Given the description of an element on the screen output the (x, y) to click on. 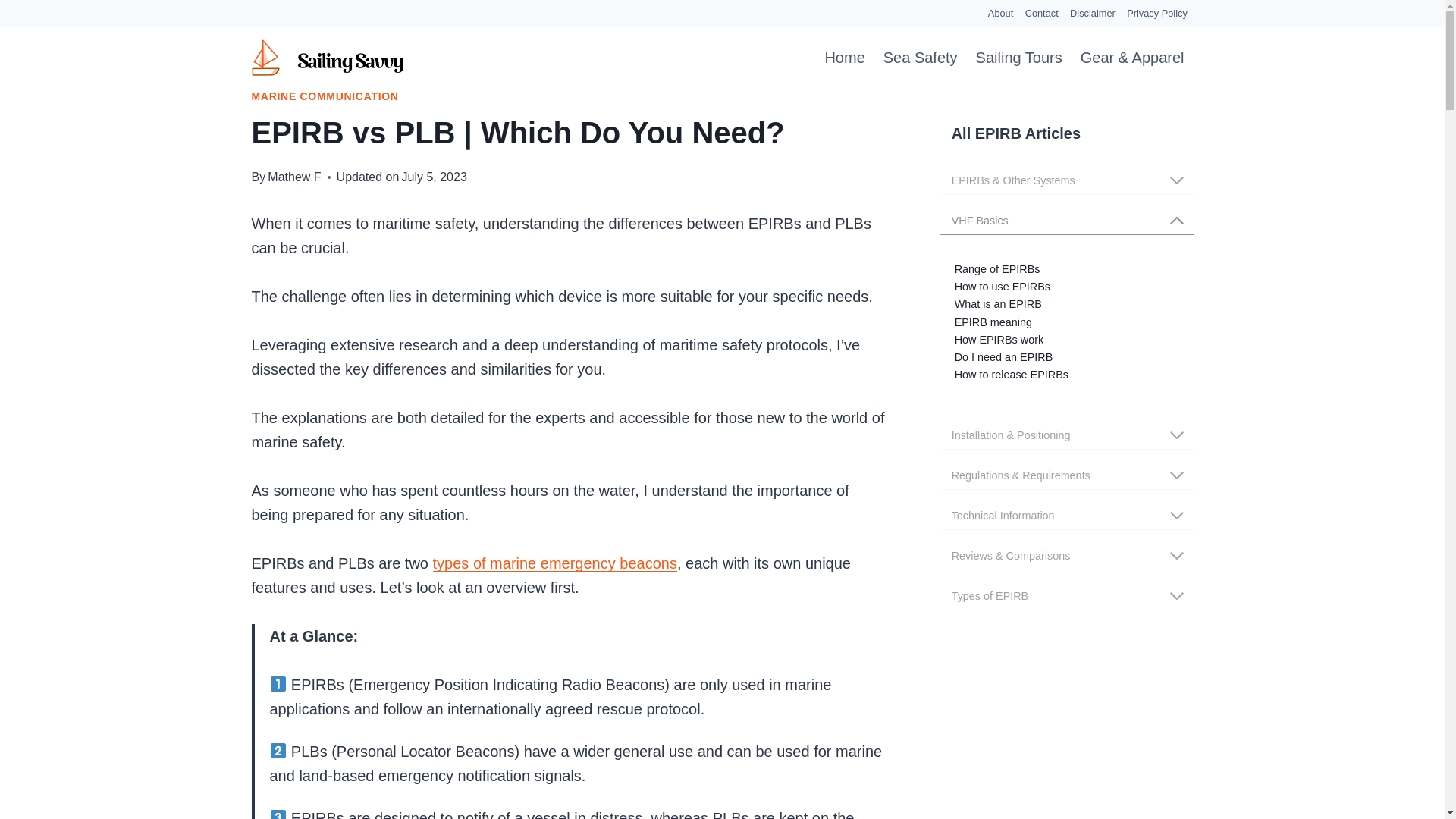
About (1000, 13)
Contact (1041, 13)
types of marine emergency beacons (554, 563)
How to use EPIRBs (1002, 286)
MARINE COMMUNICATION (324, 96)
Privacy Policy (1156, 13)
Sea Safety (920, 57)
Home (844, 57)
VHF Basics (1066, 217)
Sailing Tours (1018, 57)
